Given the description of an element on the screen output the (x, y) to click on. 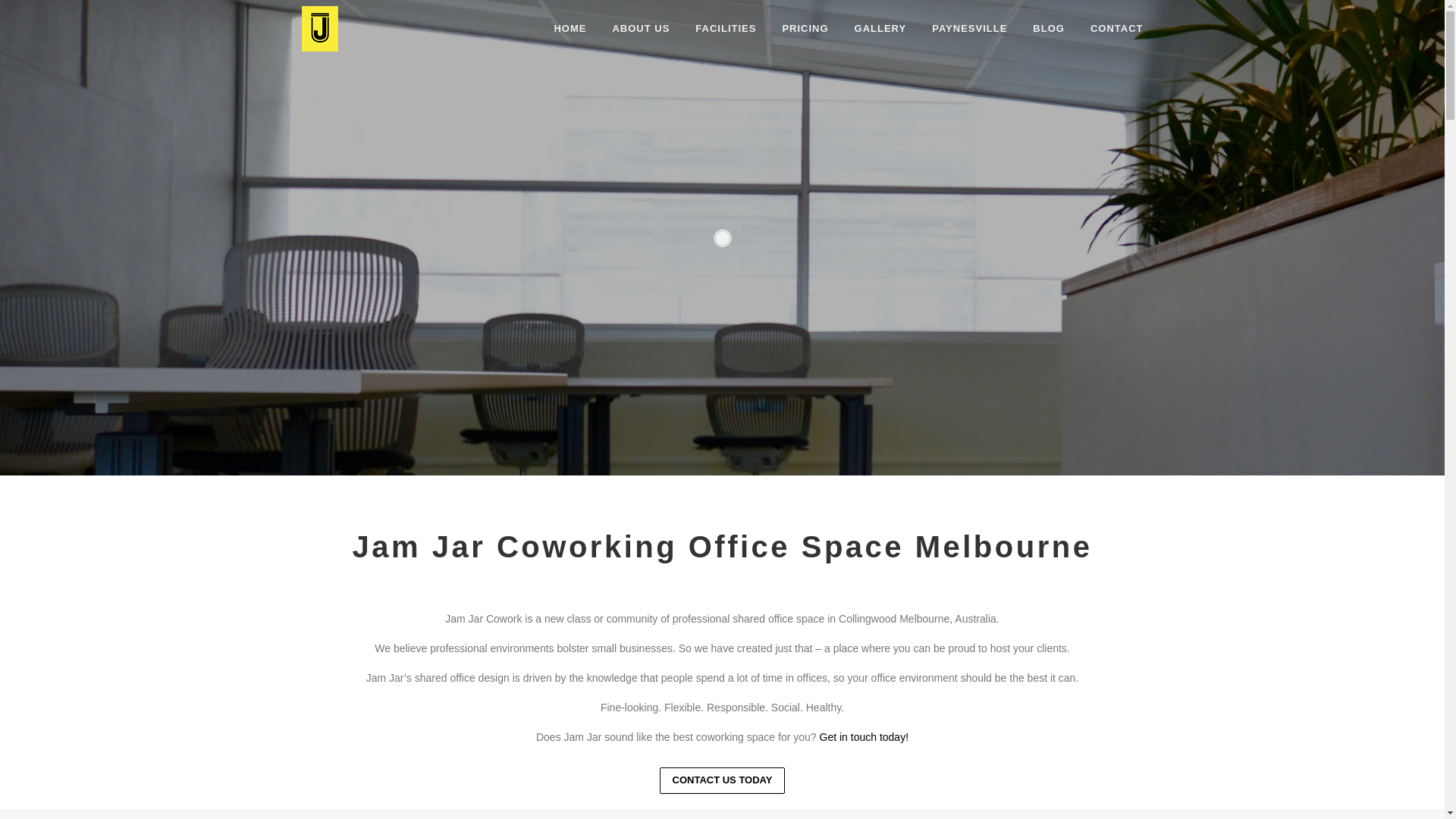
GALLERY Element type: text (880, 28)
PRICING Element type: text (804, 28)
PAYNESVILLE Element type: text (969, 28)
ABOUT US Element type: text (640, 28)
CONTACT Element type: text (1110, 28)
Get in touch today! Element type: text (862, 737)
FACILITIES Element type: text (725, 28)
HOME Element type: text (569, 28)
CONTACT US TODAY Element type: text (722, 780)
BLOG Element type: text (1048, 28)
